Given the description of an element on the screen output the (x, y) to click on. 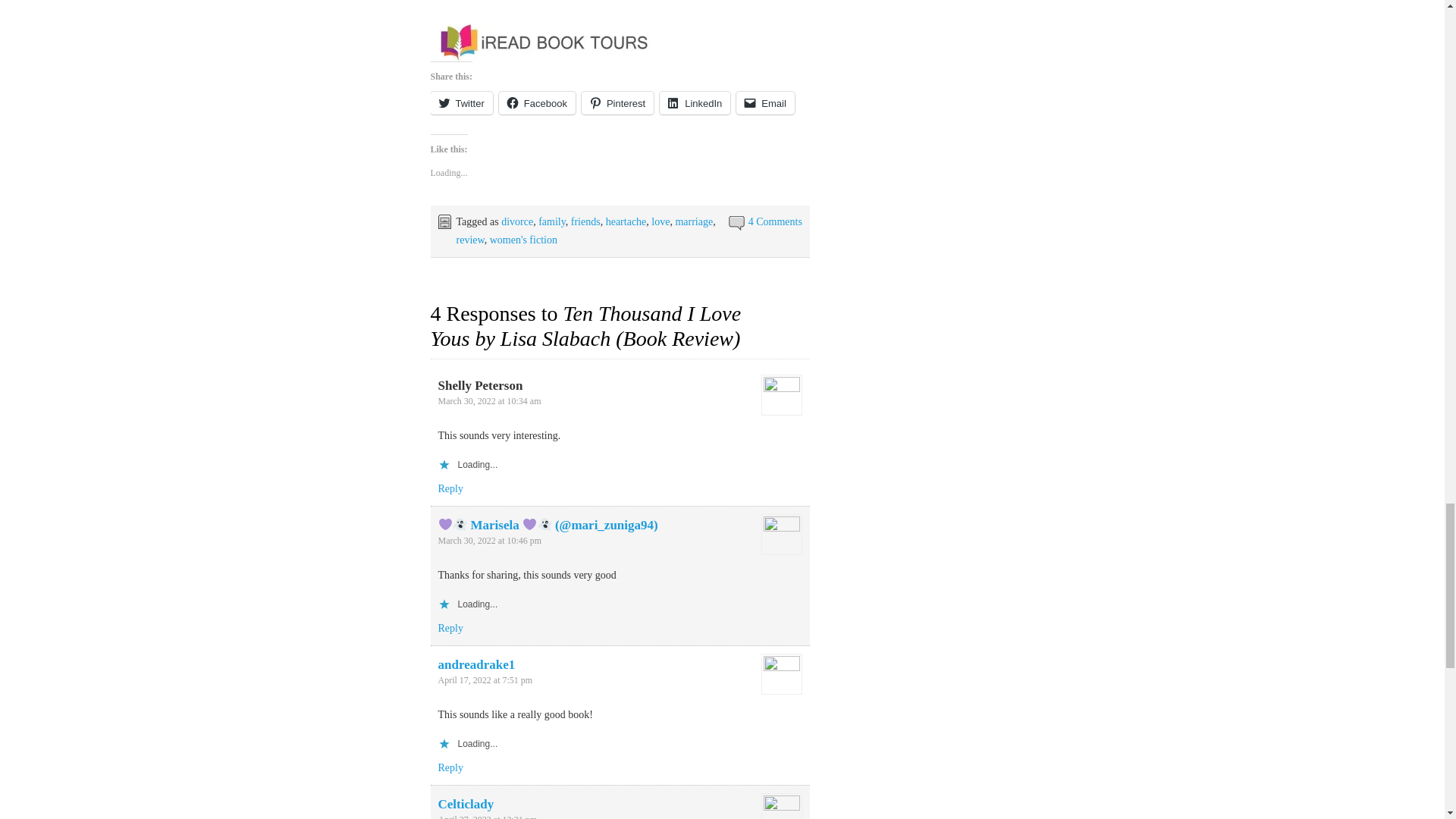
Click to email a link to a friend (765, 102)
Click to share on Facebook (537, 102)
Facebook (537, 102)
Click to share on Twitter (461, 102)
Click to share on LinkedIn (694, 102)
4 Comments (775, 221)
Pinterest (616, 102)
Twitter (461, 102)
Click to share on Pinterest (616, 102)
LinkedIn (694, 102)
Email (765, 102)
